Given the description of an element on the screen output the (x, y) to click on. 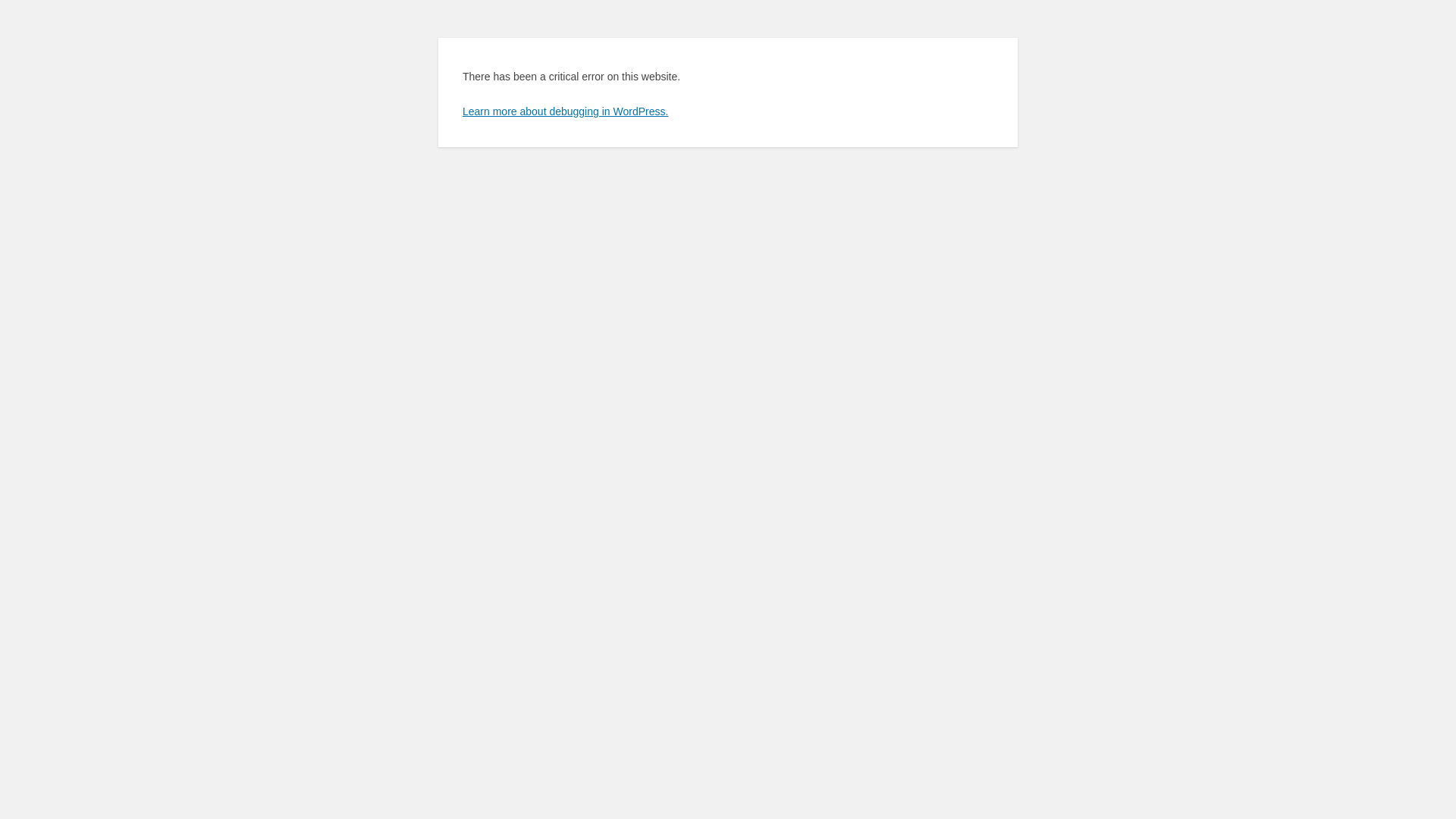
Learn more about debugging in WordPress. Element type: text (565, 111)
